Given the description of an element on the screen output the (x, y) to click on. 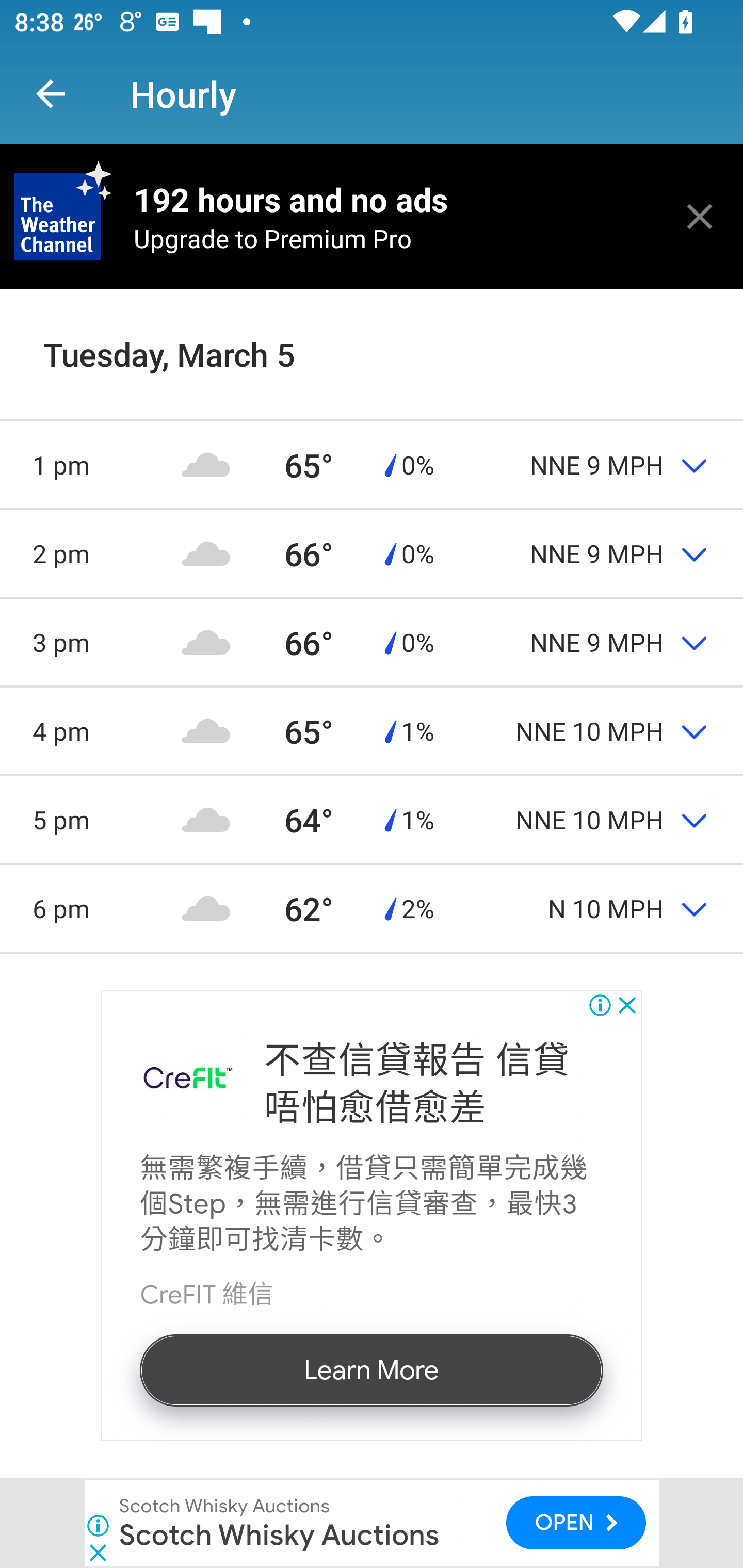
Navigate up (50, 93)
close this (699, 216)
12 pm 64° 1% NE 6 MPH (371, 375)
1 pm 65° 0% NNE 9 MPH (371, 464)
2 pm 66° 0% NNE 9 MPH (371, 553)
3 pm 66° 0% NNE 9 MPH (371, 641)
4 pm 65° 1% NNE 10 MPH (371, 730)
5 pm 64° 1% NNE 10 MPH (371, 819)
6 pm 62° 2% N 10 MPH (371, 908)
CreFIT 維信 (187, 1078)
不查信貸報告 信貸 唔怕愈借愈差 不查信貸報告 信貸 唔怕愈借愈差 (416, 1084)
CreFIT 維信 (206, 1294)
Learn More (371, 1369)
Scotch Whisky Auctions (225, 1505)
OPEN (576, 1522)
Scotch Whisky Auctions (278, 1533)
